Given the description of an element on the screen output the (x, y) to click on. 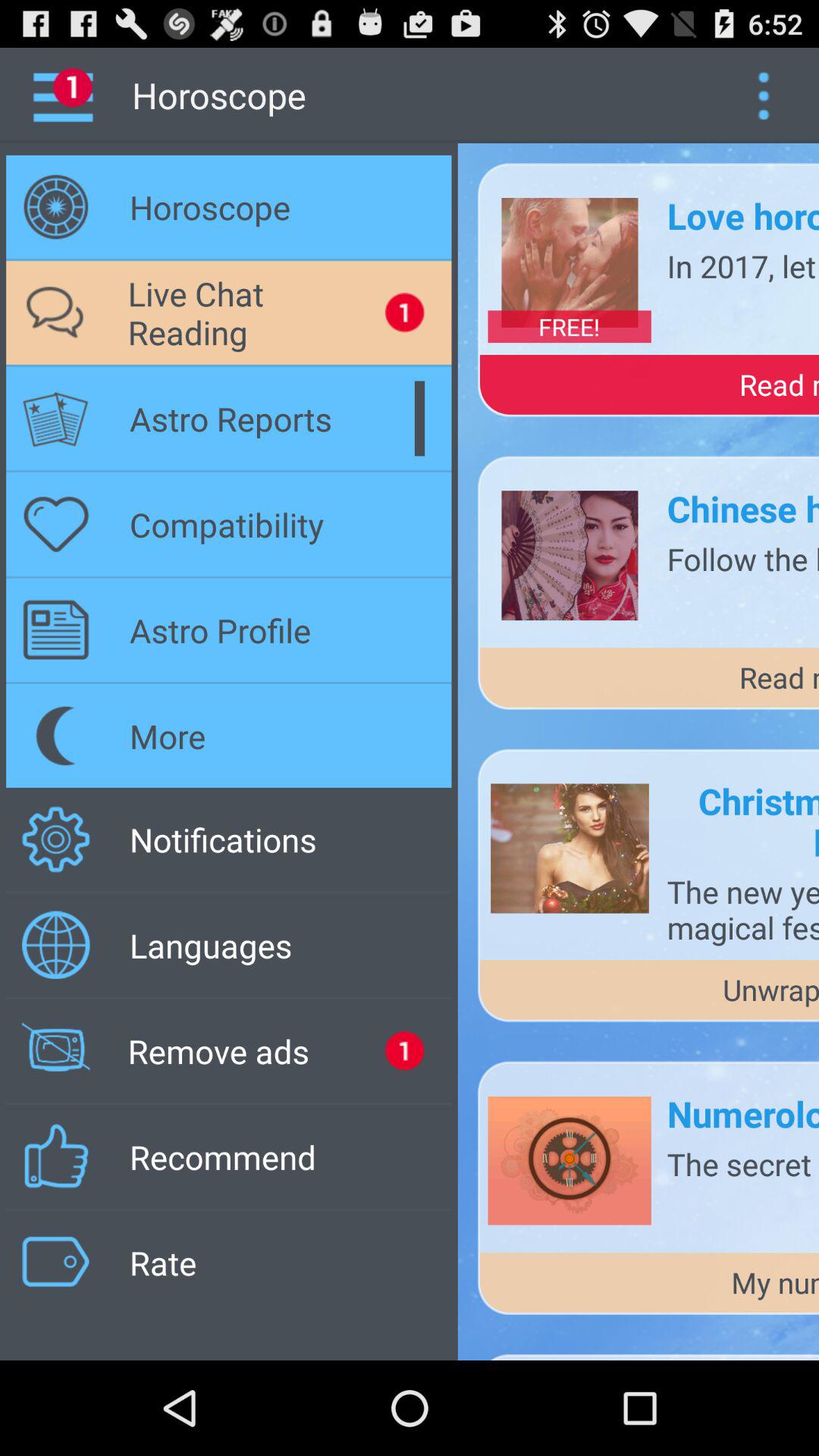
swipe to follow the light (743, 558)
